Given the description of an element on the screen output the (x, y) to click on. 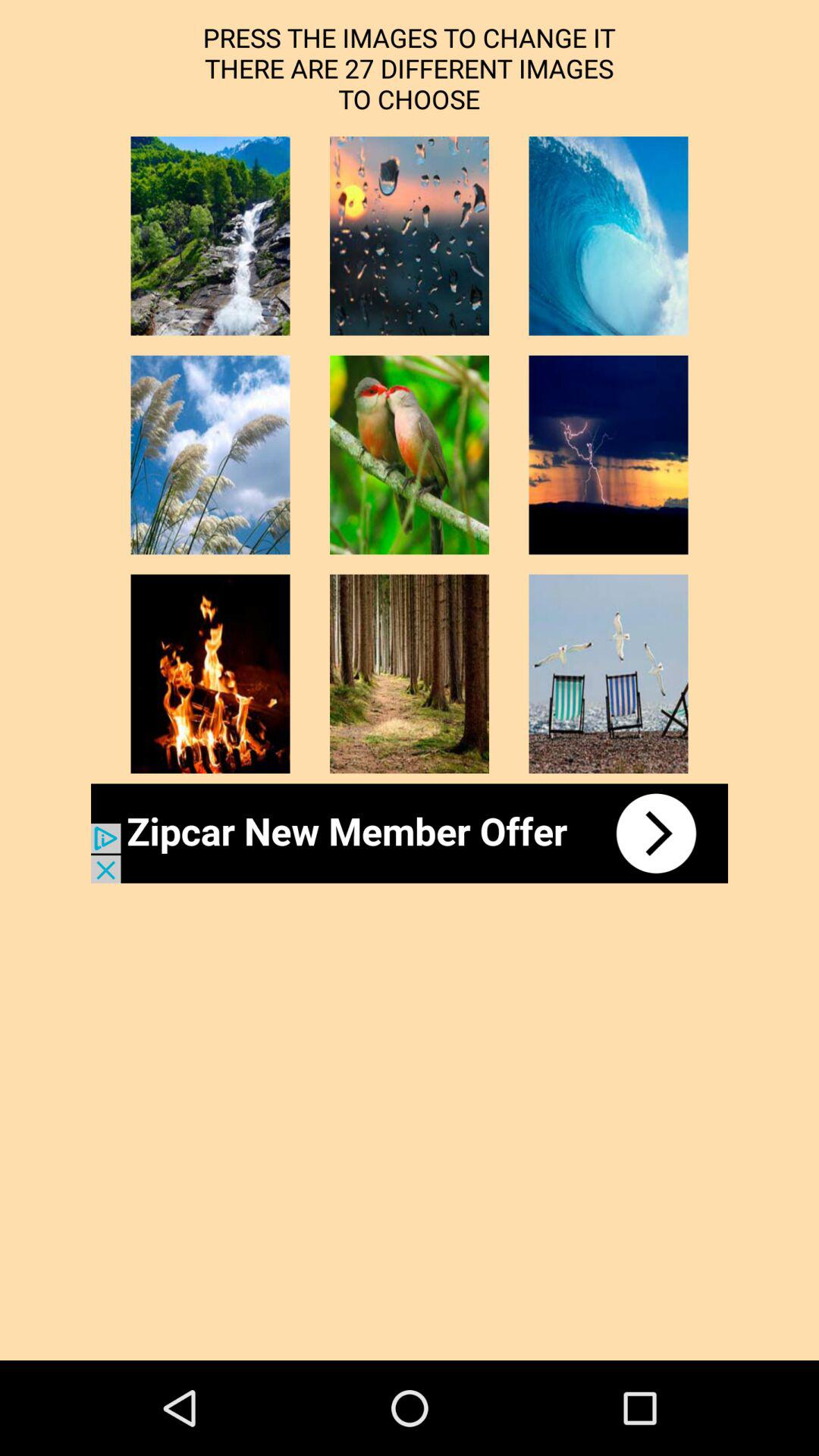
click o the image (409, 454)
